Given the description of an element on the screen output the (x, y) to click on. 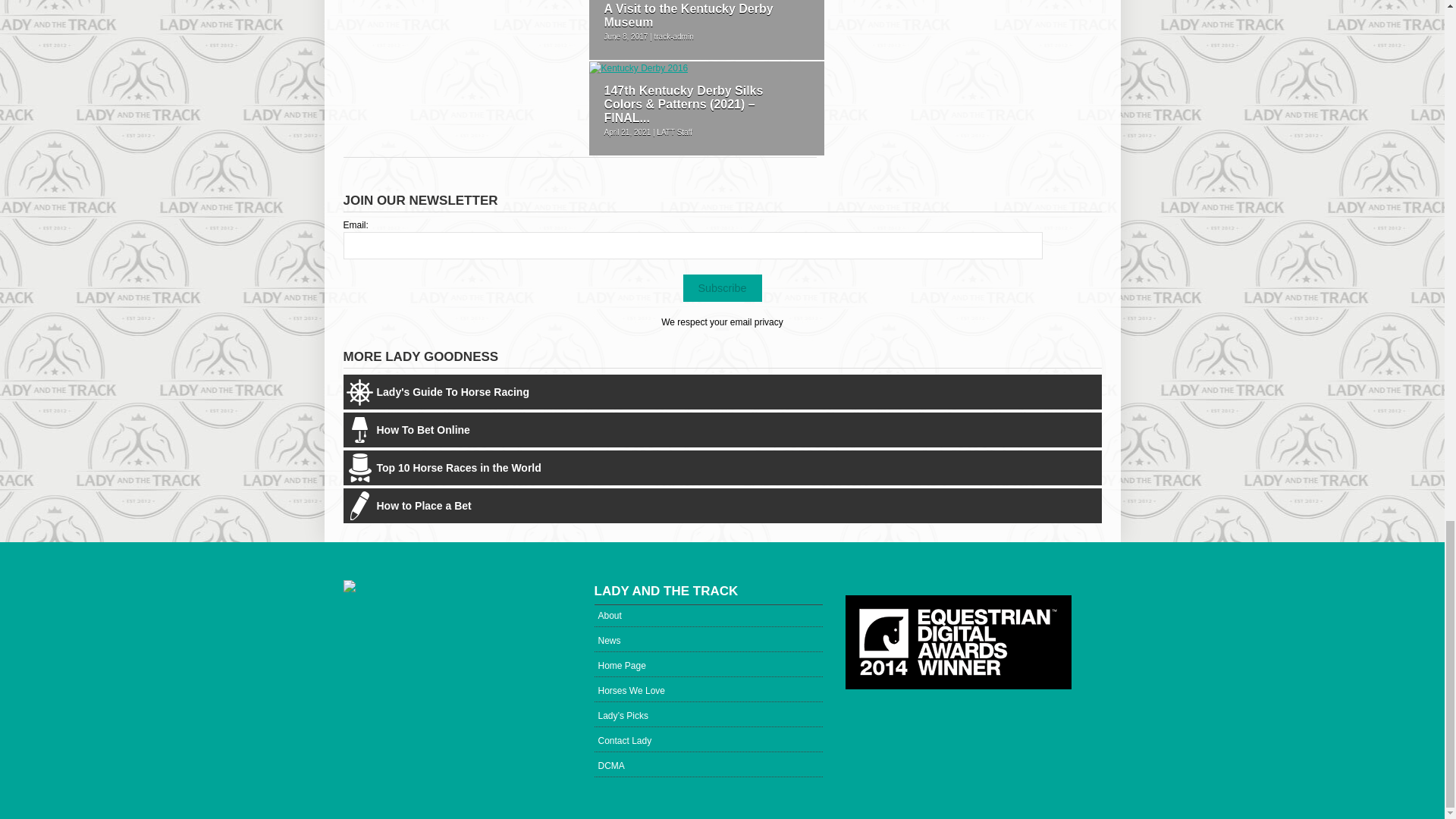
Subscribe (721, 288)
